Given the description of an element on the screen output the (x, y) to click on. 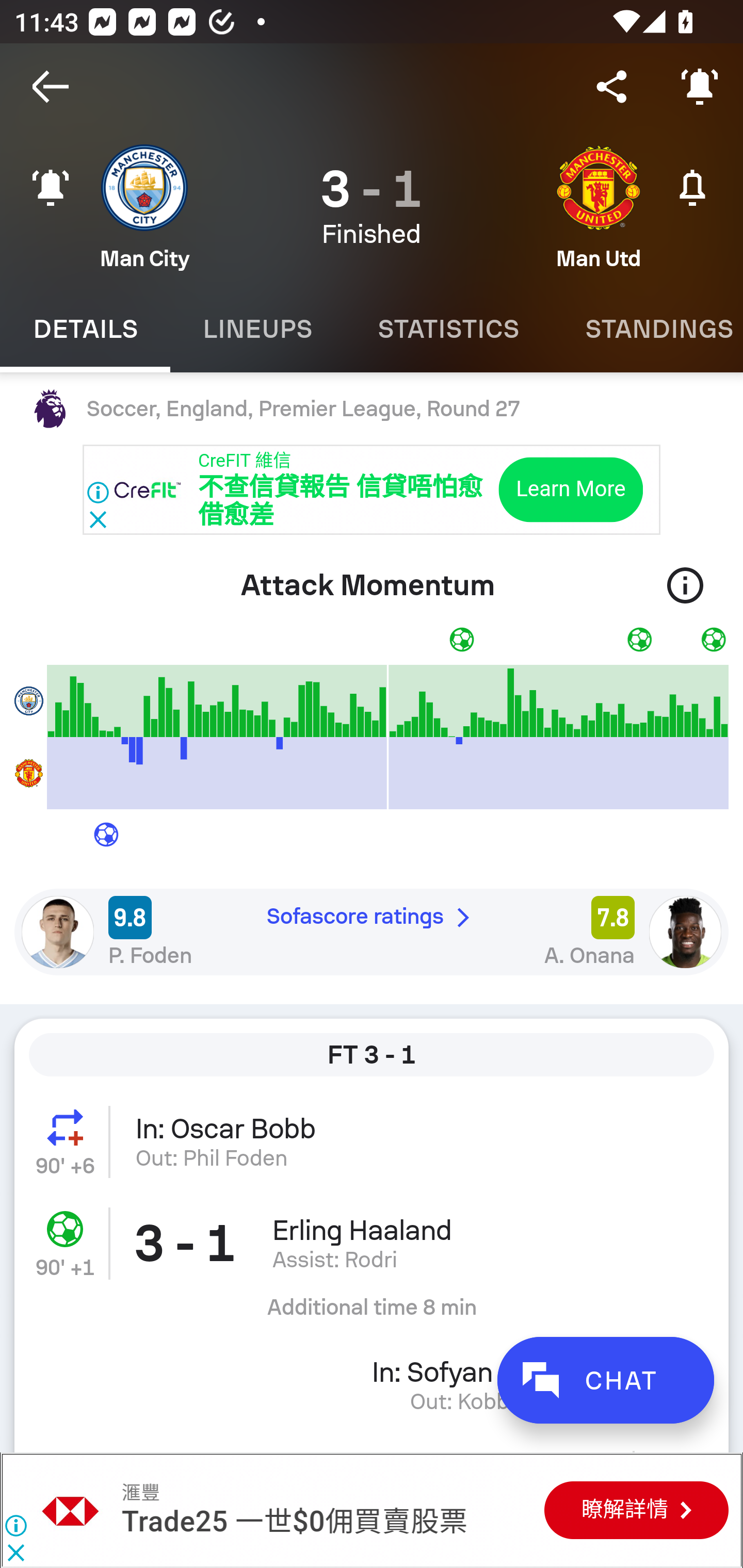
Navigate up (50, 86)
Lineups LINEUPS (257, 329)
Statistics STATISTICS (448, 329)
Standings STANDINGS (647, 329)
Soccer, England, Premier League, Round 27 (371, 409)
9.8 Sofascore ratings 7.8 P. Foden A. Onana (371, 932)
FT 3 - 1 (371, 1055)
Goal 90' +1  3  -  1  Erling Haaland Assist: Rodri (371, 1243)
Additional time 8 min (371, 1313)
CHAT (605, 1380)
滙豐 (71, 1509)
滙豐 (140, 1493)
瞭解詳情 (636, 1511)
Trade25 一世$0佣買賣股票 (293, 1523)
